Given the description of an element on the screen output the (x, y) to click on. 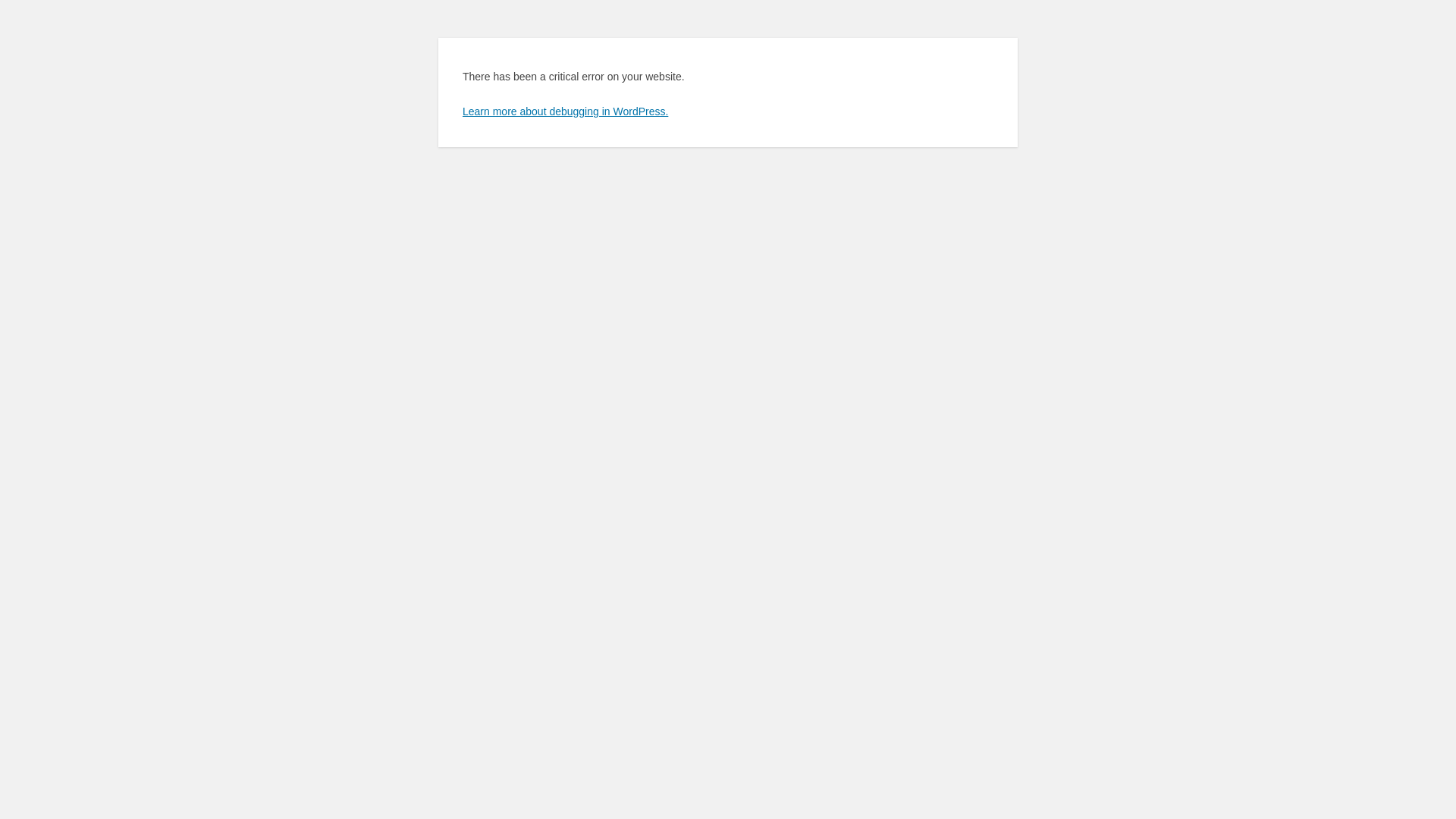
Learn more about debugging in WordPress. Element type: text (565, 111)
